Given the description of an element on the screen output the (x, y) to click on. 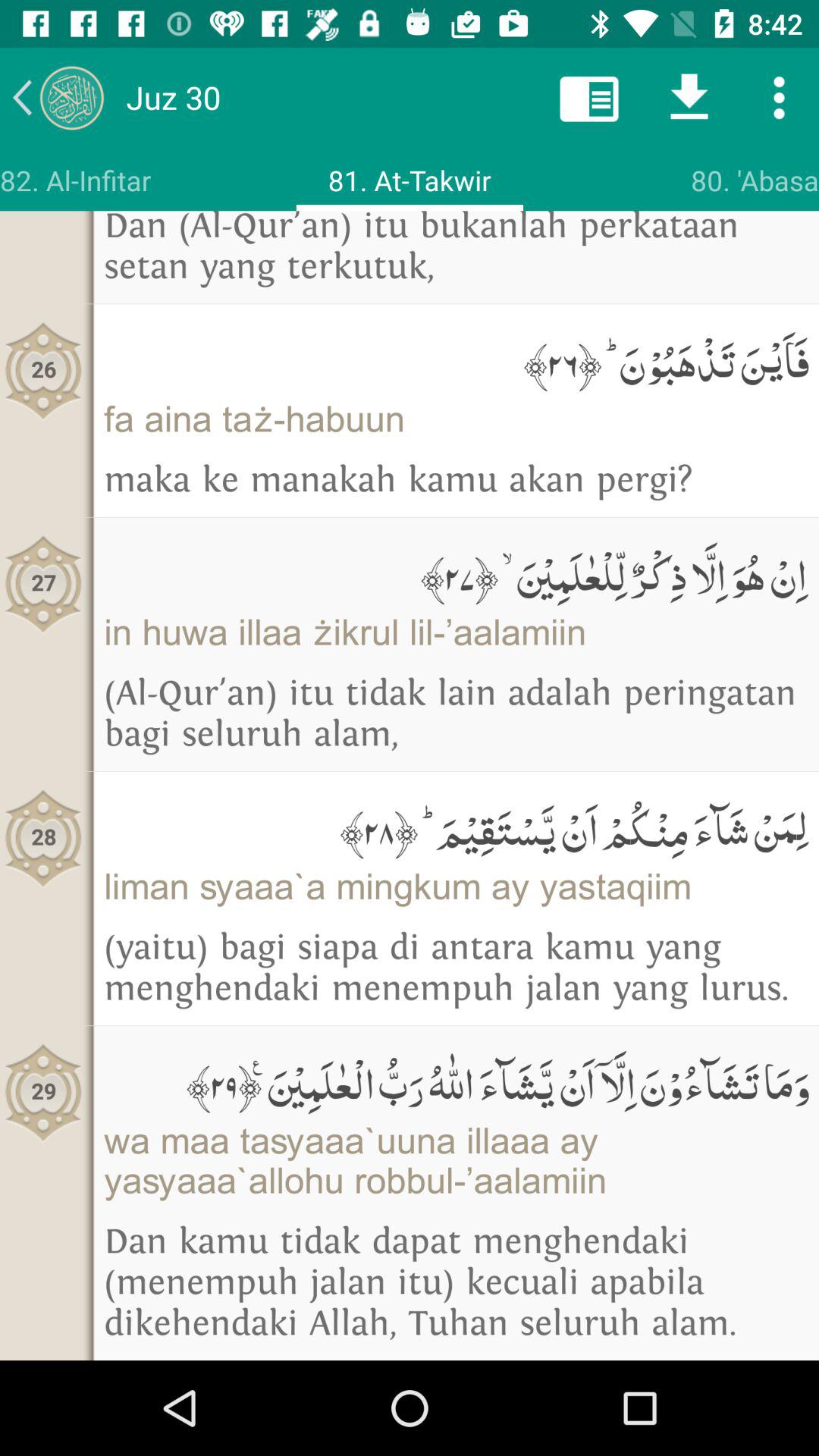
open option menu (779, 97)
